Given the description of an element on the screen output the (x, y) to click on. 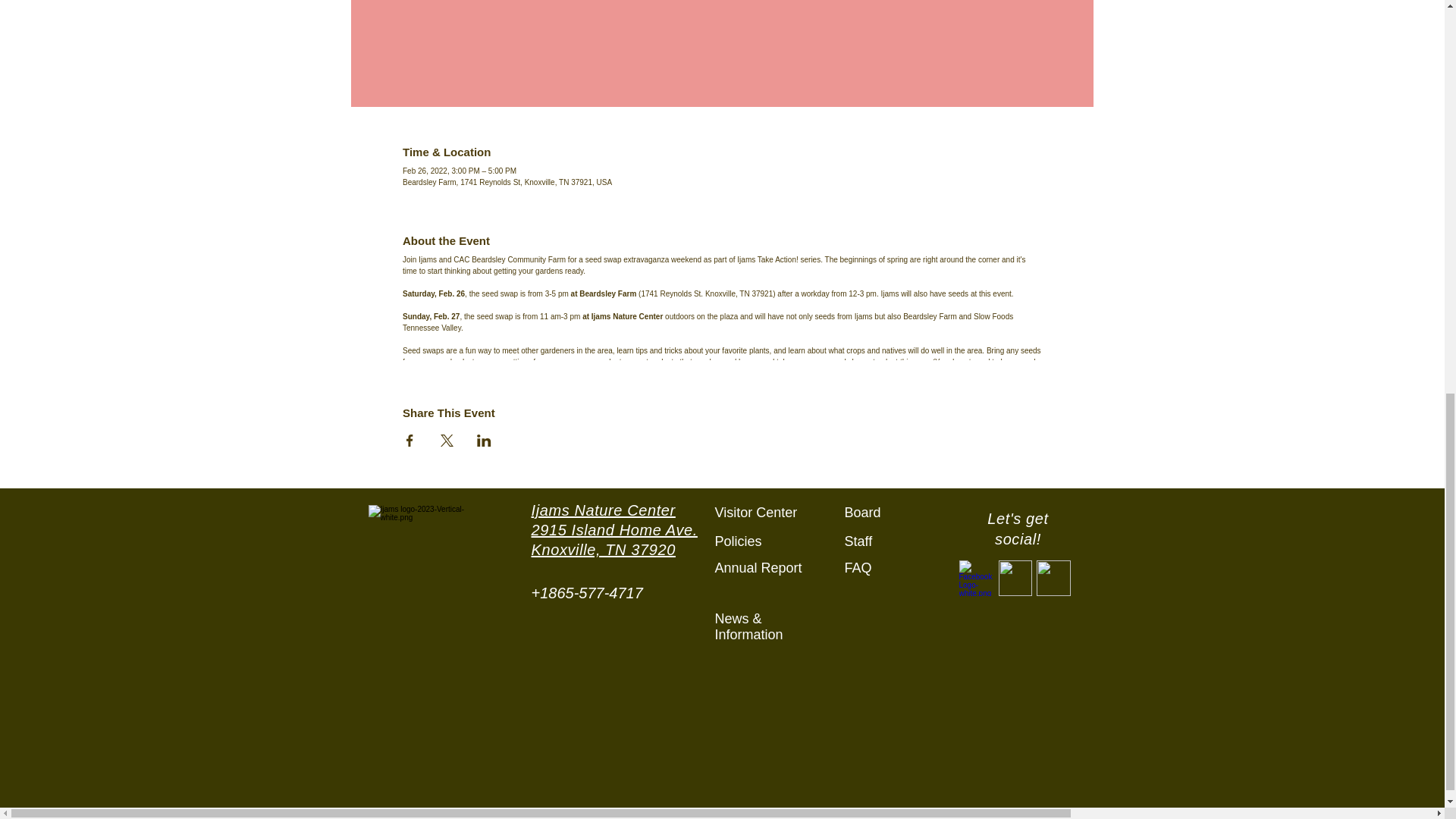
Ijams white horizontal transparent.png (431, 559)
Insta Logo- white.png (1052, 578)
Pinterest Logo- white.png (1013, 578)
